Given the description of an element on the screen output the (x, y) to click on. 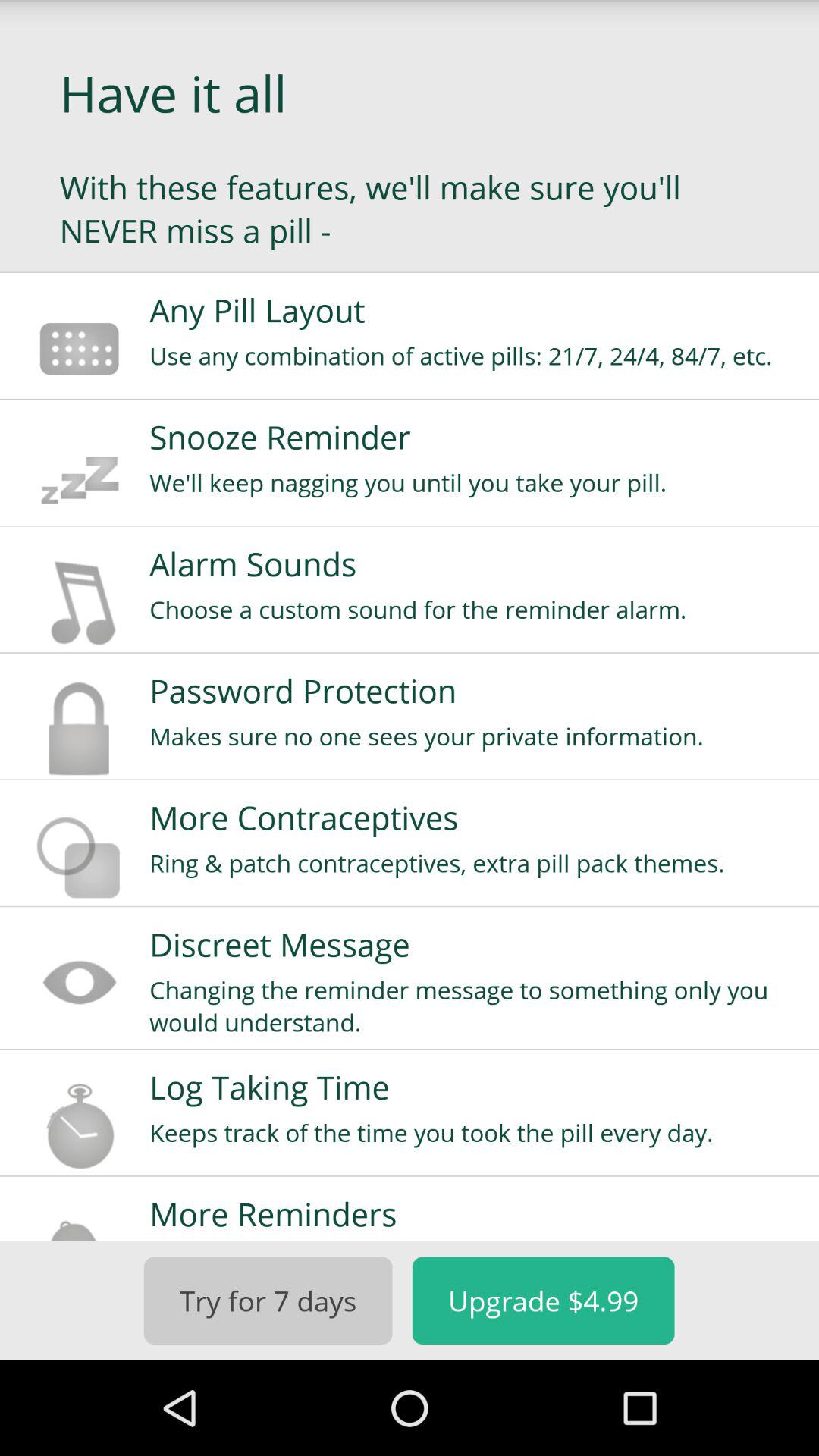
turn off the item above the changing the reminder (474, 944)
